Given the description of an element on the screen output the (x, y) to click on. 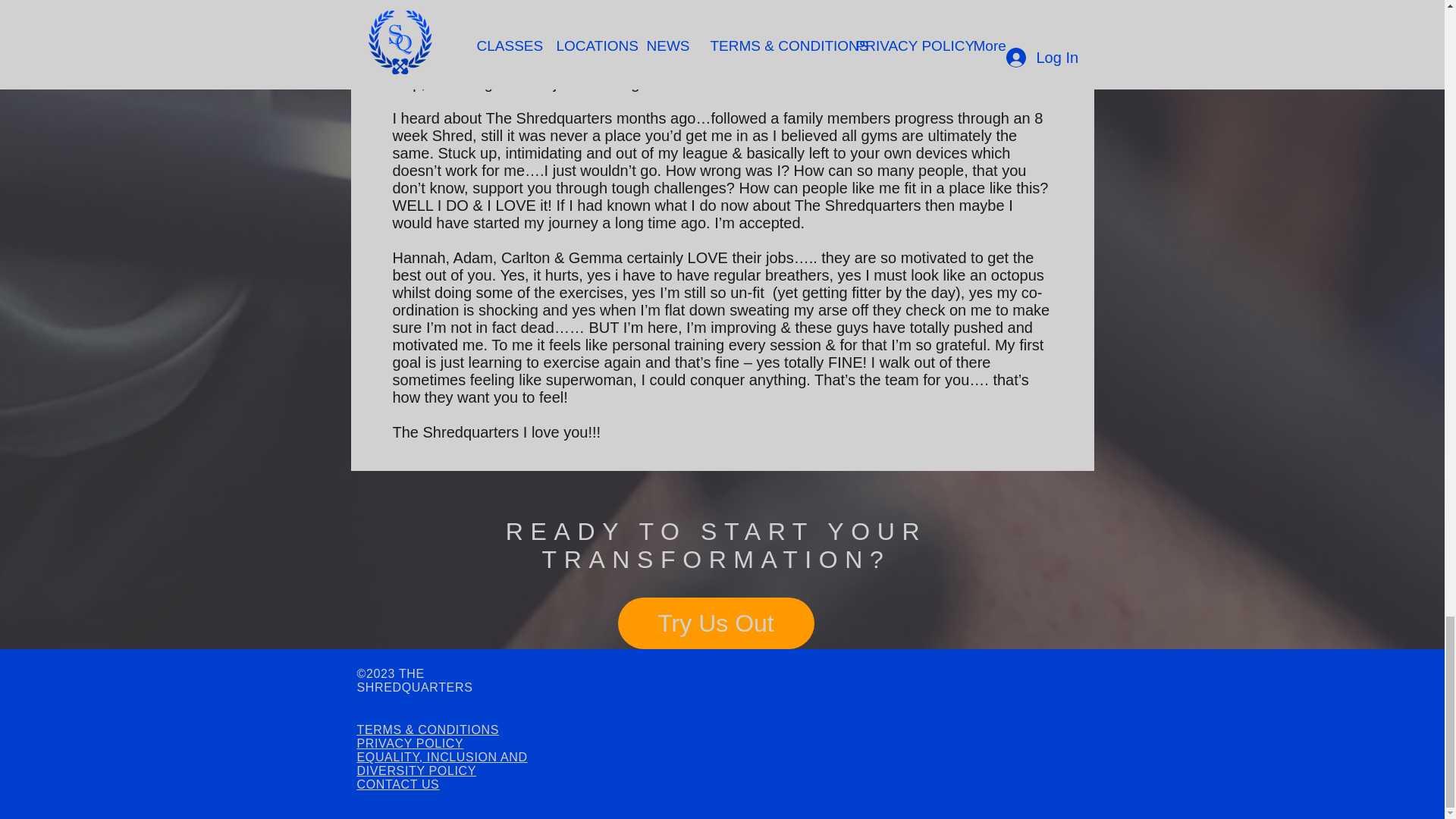
CONTACT US (397, 784)
PRIVACY POLICY (409, 743)
EQUALITY, INCLUSION AND DIVERSITY POLICY (441, 764)
Try Us Out (715, 623)
